Given the description of an element on the screen output the (x, y) to click on. 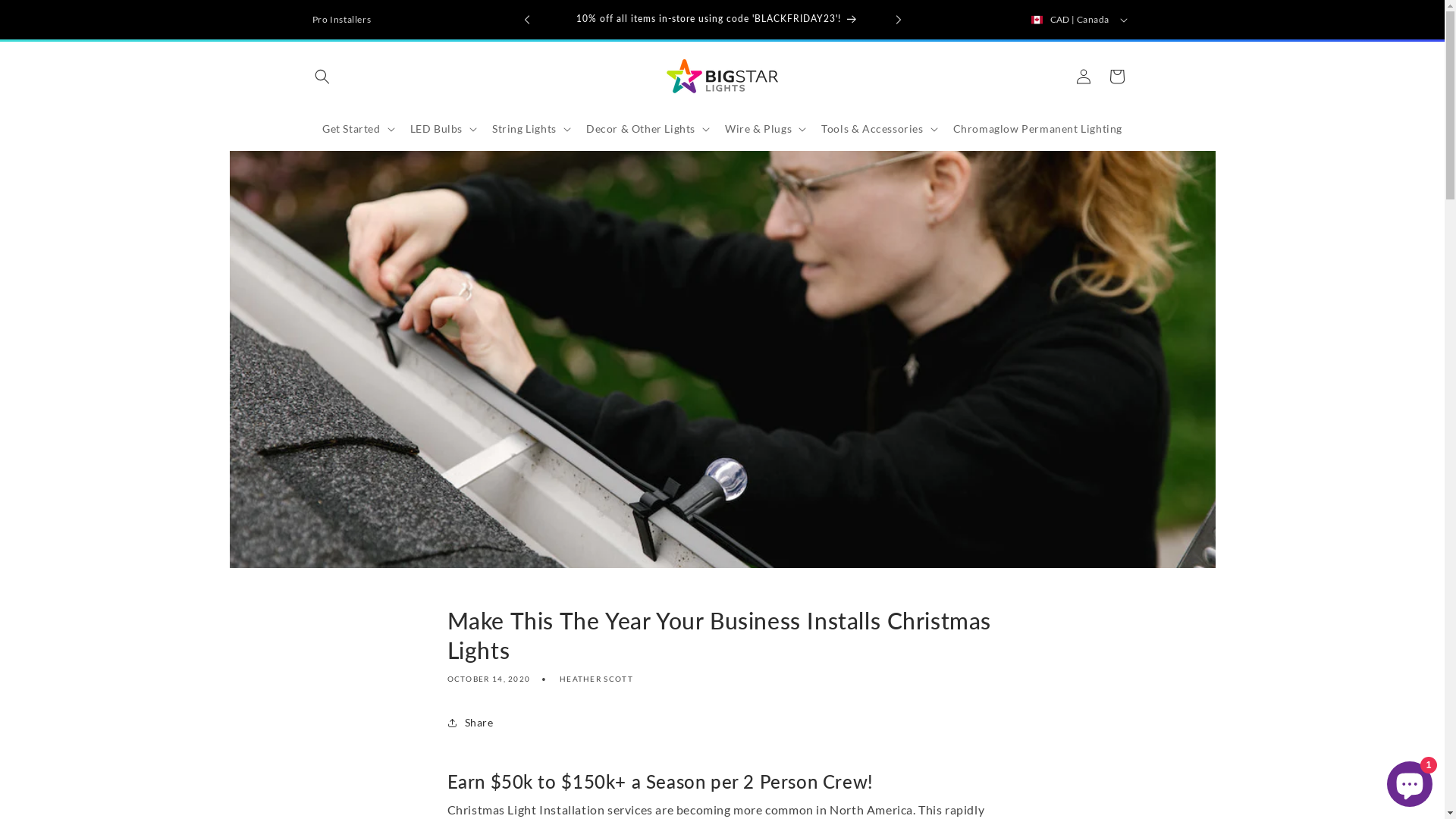
Shopify online store chat Element type: hover (1409, 780)
SKIP TO CONTENT Element type: text (47, 20)
CAD | Canada Element type: text (1077, 19)
Log in Element type: text (1082, 75)
Cart Element type: text (1115, 75)
Chromaglow Permanent Lighting Element type: text (1037, 128)
